Given the description of an element on the screen output the (x, y) to click on. 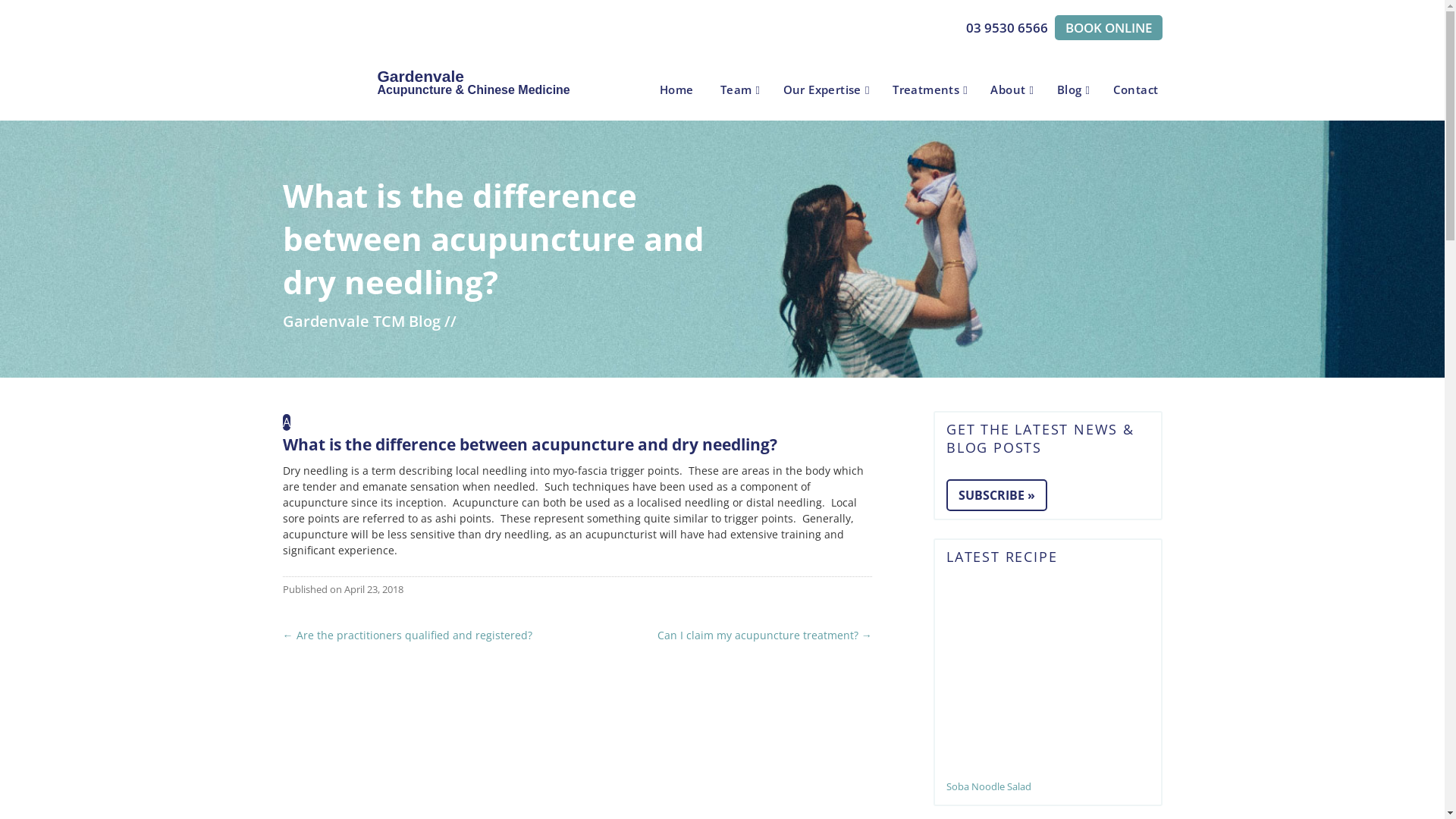
Home Element type: text (678, 90)
Blog Element type: text (1073, 90)
Treatments Element type: text (929, 90)
Contact Element type: text (1137, 90)
Gardenvale
Acupuncture & Chinese Medicine Element type: text (378, 58)
Our Expertise Element type: text (826, 90)
03 9530 6566 Element type: text (1007, 27)
Team Element type: text (740, 90)
About Element type: text (1011, 90)
Skip to content Element type: text (684, 81)
BOOK ONLINE Element type: text (1107, 27)
Soba Noodle Salad Element type: text (1047, 683)
